Given the description of an element on the screen output the (x, y) to click on. 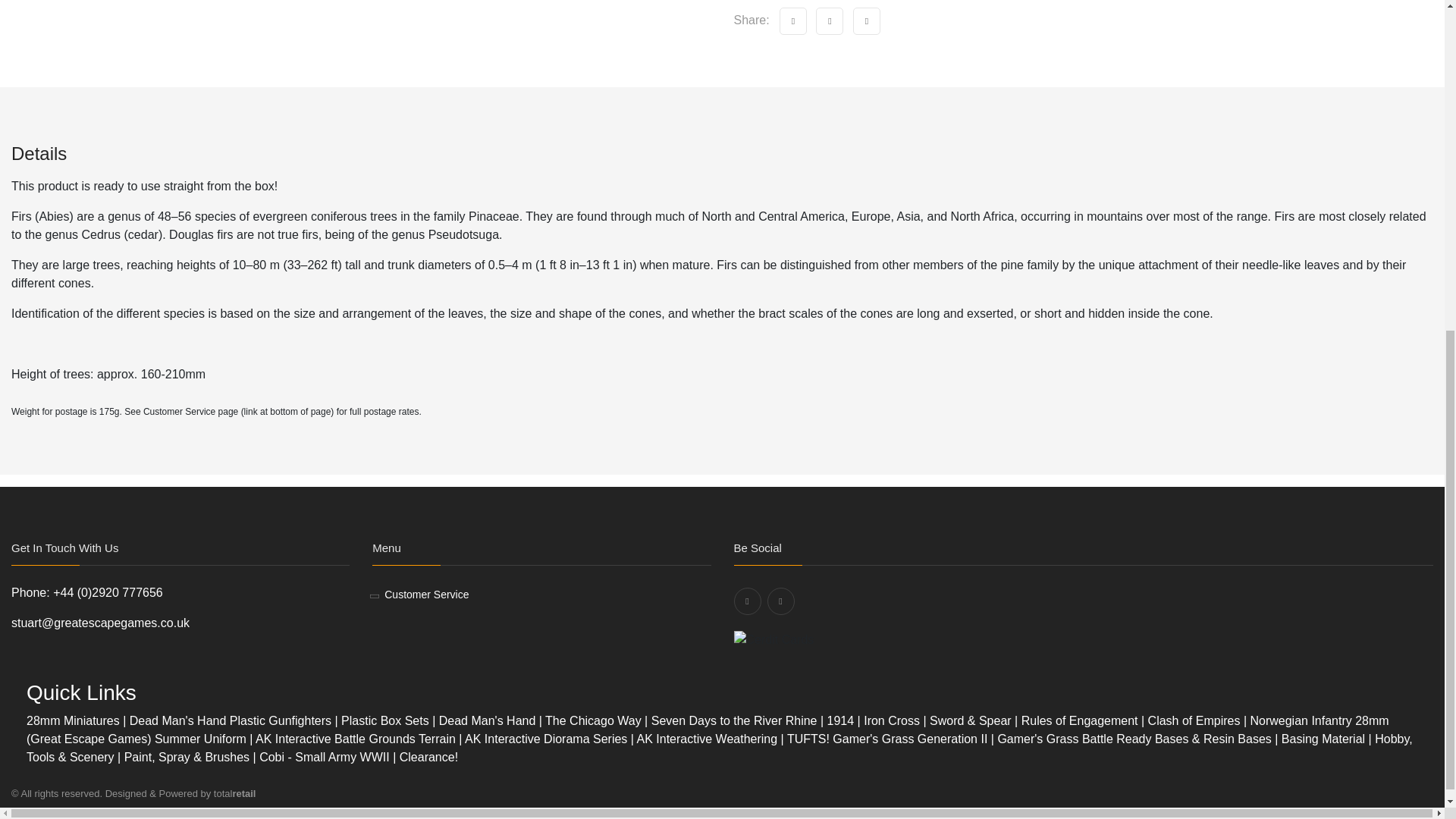
Share by Email (866, 21)
Share on Twitter (792, 21)
Customer Service (426, 594)
Share on Facebook (829, 21)
